Given the description of an element on the screen output the (x, y) to click on. 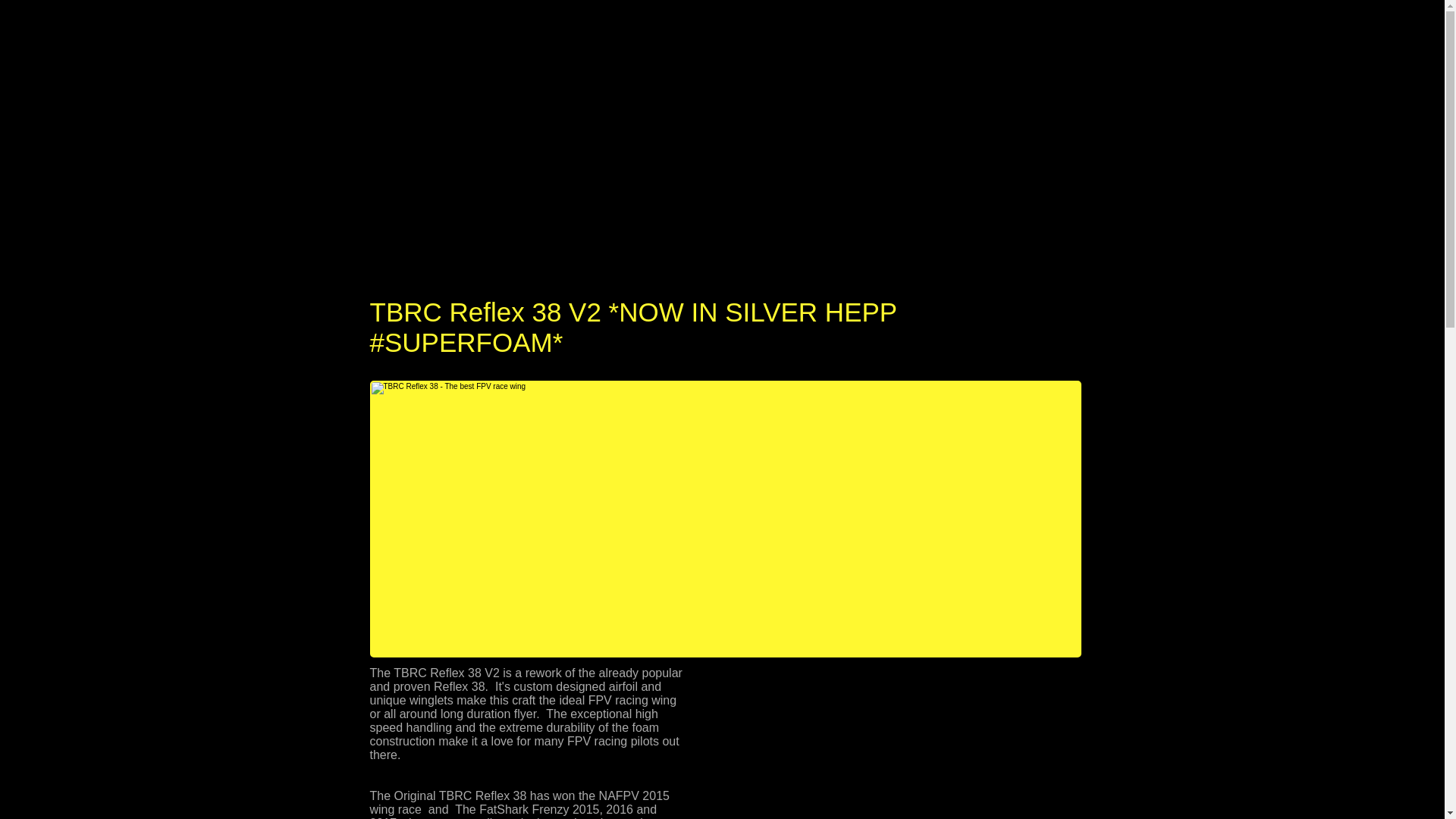
External YouTube (903, 742)
